Given the description of an element on the screen output the (x, y) to click on. 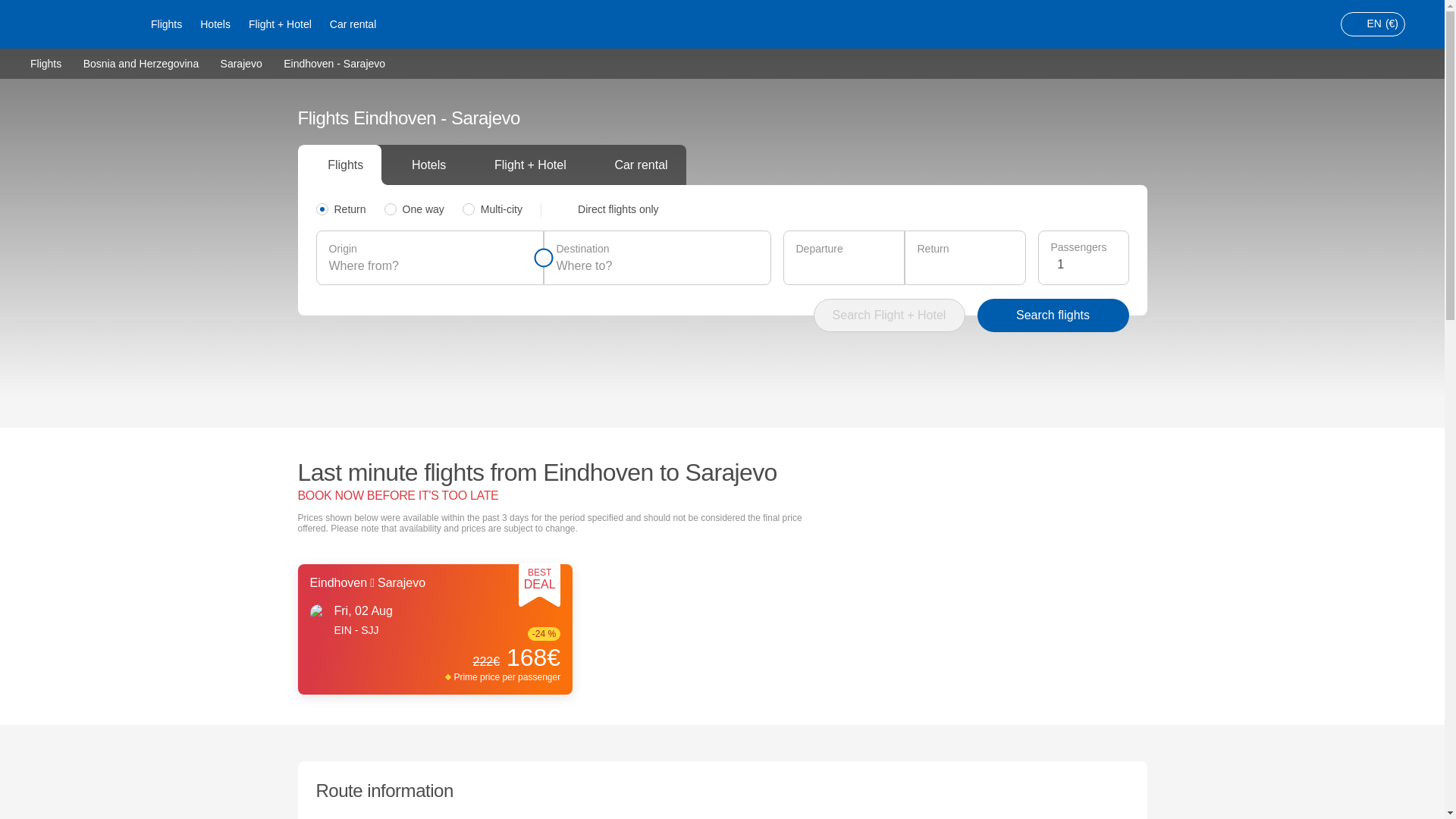
Car rental (352, 24)
Flights (165, 24)
Bosnia and Herzegovina (140, 62)
Hotels (215, 24)
Sarajevo (241, 62)
Eindhoven - Sarajevo (334, 63)
1 (1086, 263)
Flights (45, 62)
Search flights (1052, 315)
